Given the description of an element on the screen output the (x, y) to click on. 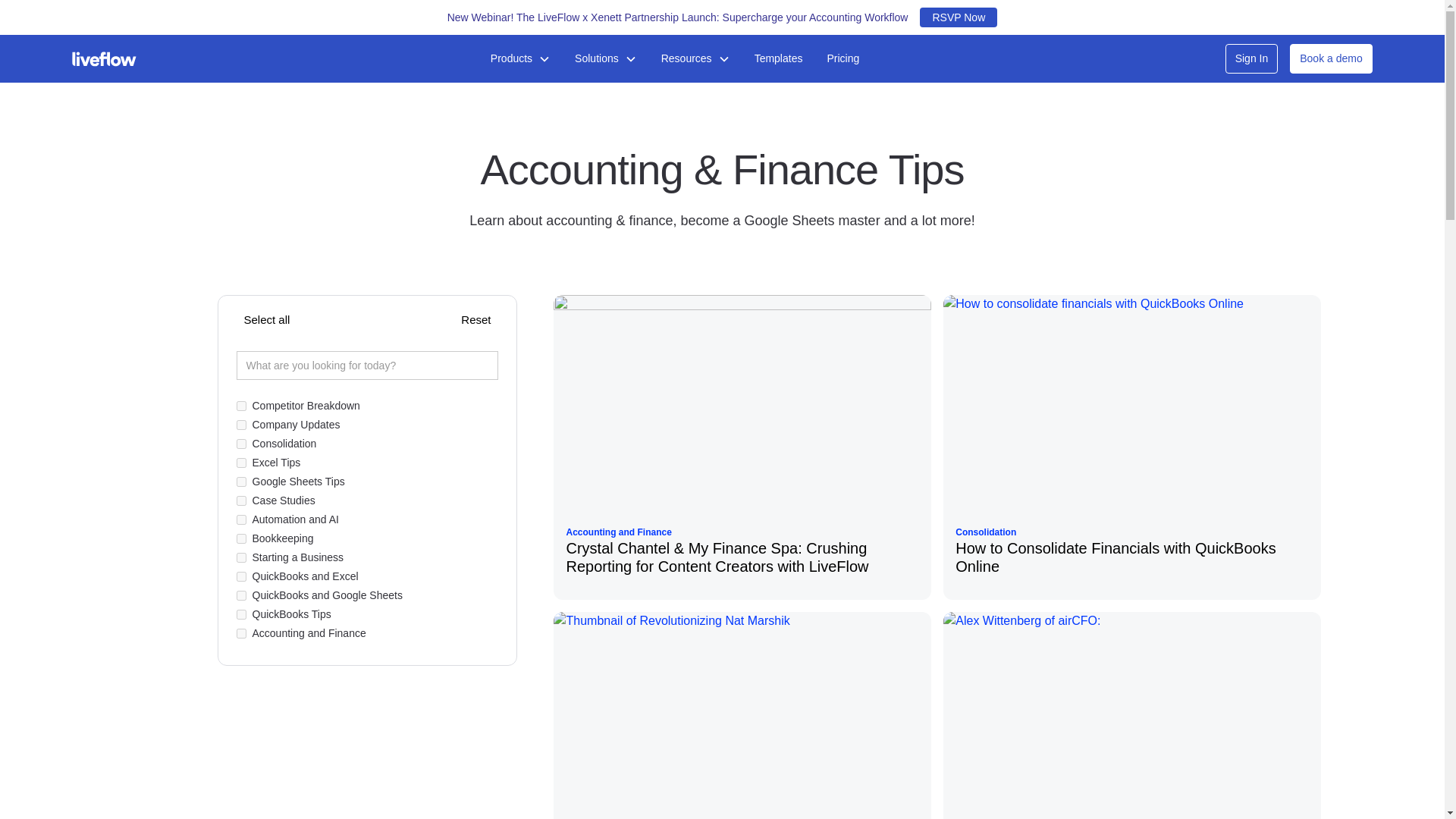
on (240, 614)
on (240, 519)
on (240, 595)
on (240, 557)
on (240, 462)
on (240, 501)
on (240, 633)
on (240, 424)
on (240, 481)
on (240, 443)
